Given the description of an element on the screen output the (x, y) to click on. 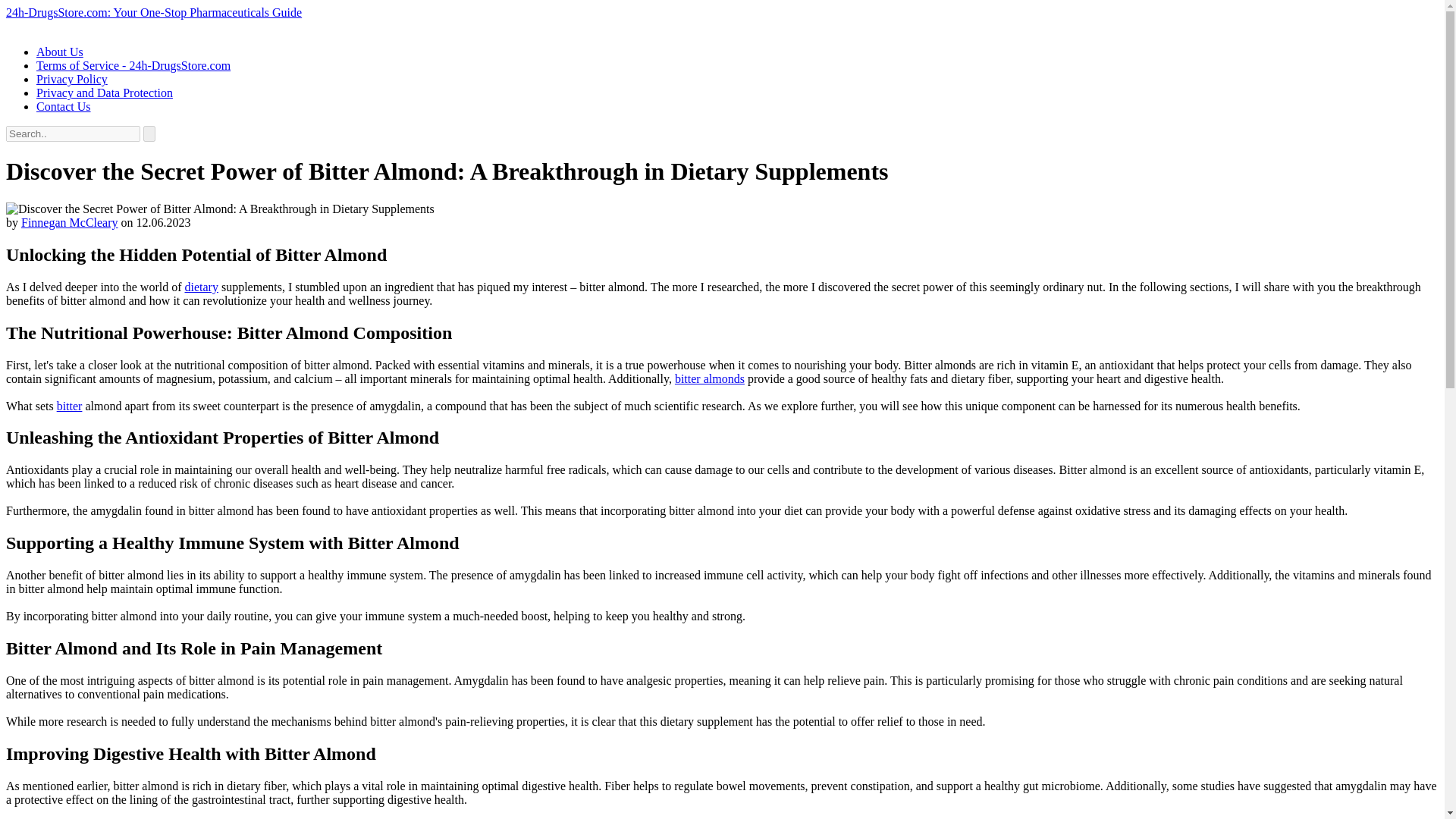
Browse articles (200, 286)
Link - The Garden of Medicinal Plants (69, 404)
About Us (59, 51)
24h-DrugsStore.com: Your One-Stop Pharmaceuticals Guide (153, 11)
Privacy Policy (71, 78)
Contact Us (63, 106)
bitter almonds (709, 377)
dietary (200, 286)
Privacy and Data Protection (104, 92)
Terms of Service - 24h-DrugsStore.com (133, 65)
